Given the description of an element on the screen output the (x, y) to click on. 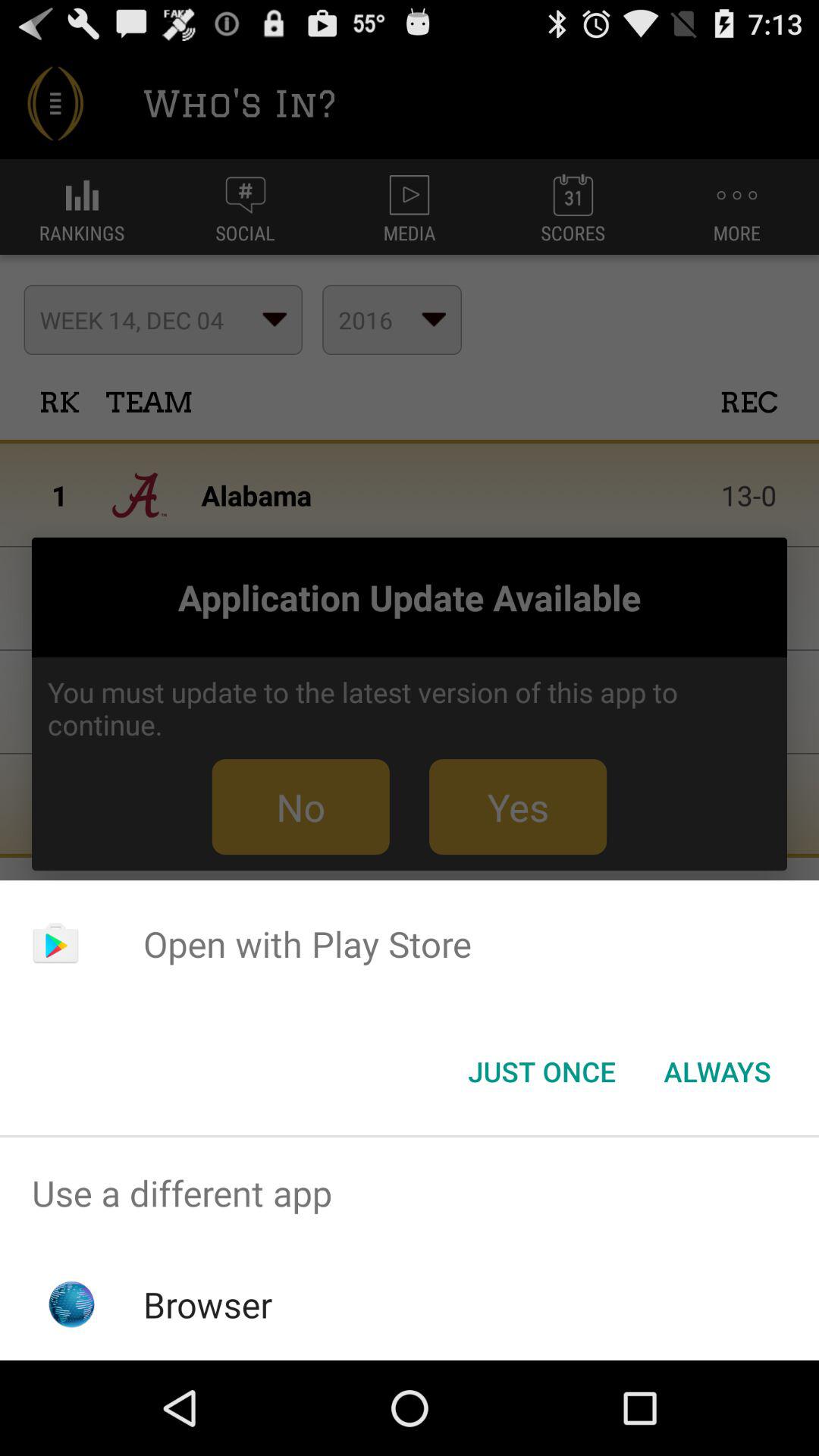
launch the always icon (717, 1071)
